Given the description of an element on the screen output the (x, y) to click on. 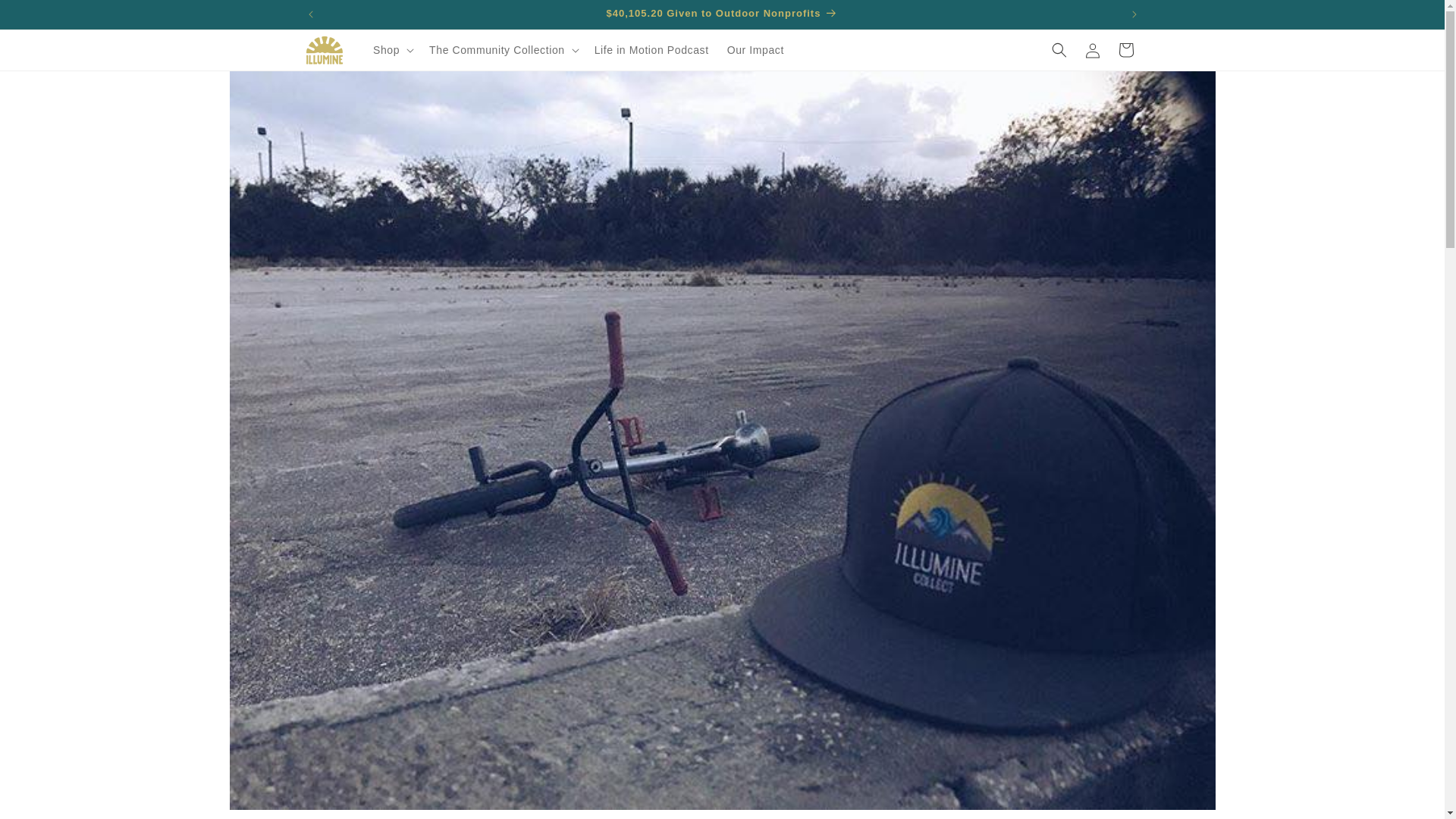
Skip to content (45, 16)
